Given the description of an element on the screen output the (x, y) to click on. 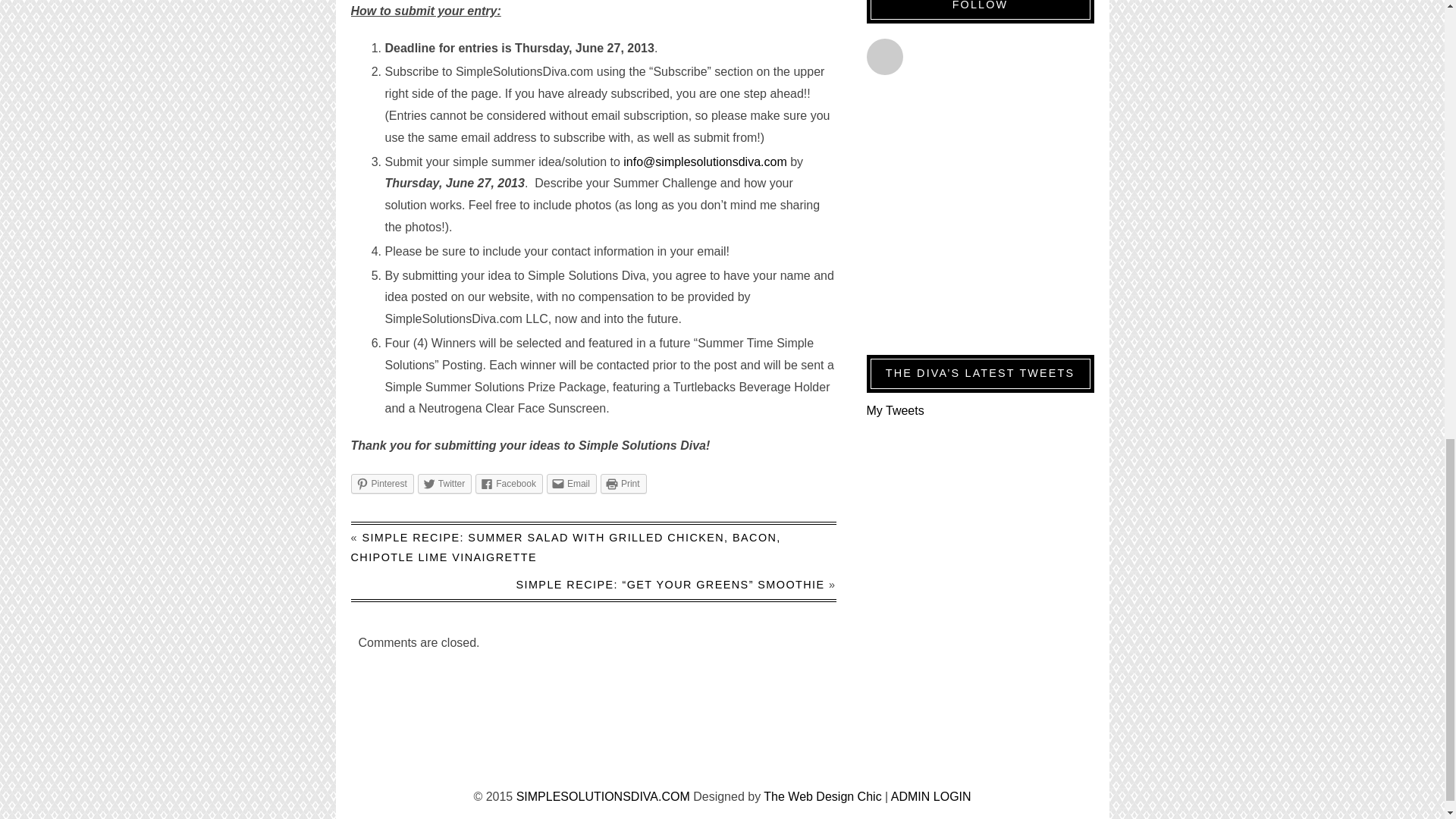
Facebook (509, 483)
Click to share on Pinterest (381, 483)
Twitter (444, 483)
Click to share on Twitter (444, 483)
Click to share on Facebook (509, 483)
Click to print (622, 483)
Print (622, 483)
Pinterest (381, 483)
Email (571, 483)
Click to email this to a friend (571, 483)
